Given the description of an element on the screen output the (x, y) to click on. 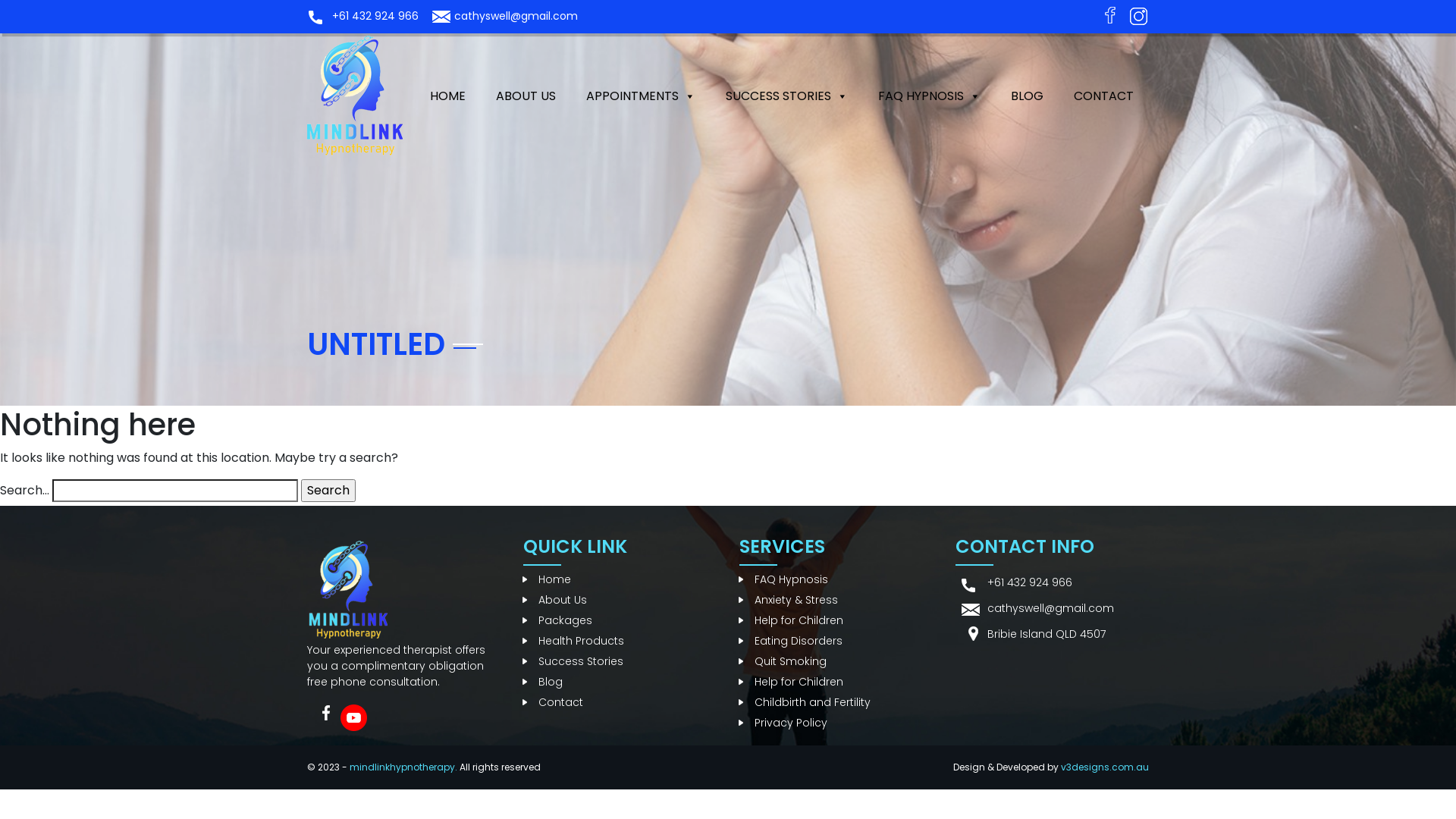
Packages Element type: text (557, 619)
+61 432 924 966 Element type: text (1029, 581)
Home Element type: text (547, 578)
Search Element type: text (328, 490)
Instagram Element type: text (1137, 15)
Anxiety & Stress Element type: text (788, 599)
About Us Element type: text (554, 599)
Eating Disorders Element type: text (790, 640)
Childbirth and Fertility Element type: text (804, 701)
Contact Element type: text (553, 701)
BLOG Element type: text (1026, 96)
Success Stories Element type: text (573, 660)
Facebook Element type: text (325, 705)
Facebook Element type: text (1113, 15)
cathyswell@gmail.com Element type: text (515, 15)
mindlinkhypnotherapy. Element type: text (403, 766)
Blog Element type: text (542, 681)
Help for Children Element type: text (791, 681)
Quit Smoking Element type: text (782, 660)
SUCCESS STORIES Element type: text (786, 96)
cathyswell@gmail.com Element type: text (1050, 607)
ABOUT US Element type: text (525, 96)
FAQ HYPNOSIS Element type: text (928, 96)
APPOINTMENTS Element type: text (640, 96)
Health Products Element type: text (573, 640)
+61 432 924 966 Element type: text (375, 15)
CONTACT Element type: text (1103, 96)
Privacy Policy Element type: text (783, 722)
FAQ Hypnosis Element type: text (783, 578)
HOME Element type: text (447, 96)
v3designs.com.au Element type: text (1104, 766)
Help for Children Element type: text (791, 619)
